Given the description of an element on the screen output the (x, y) to click on. 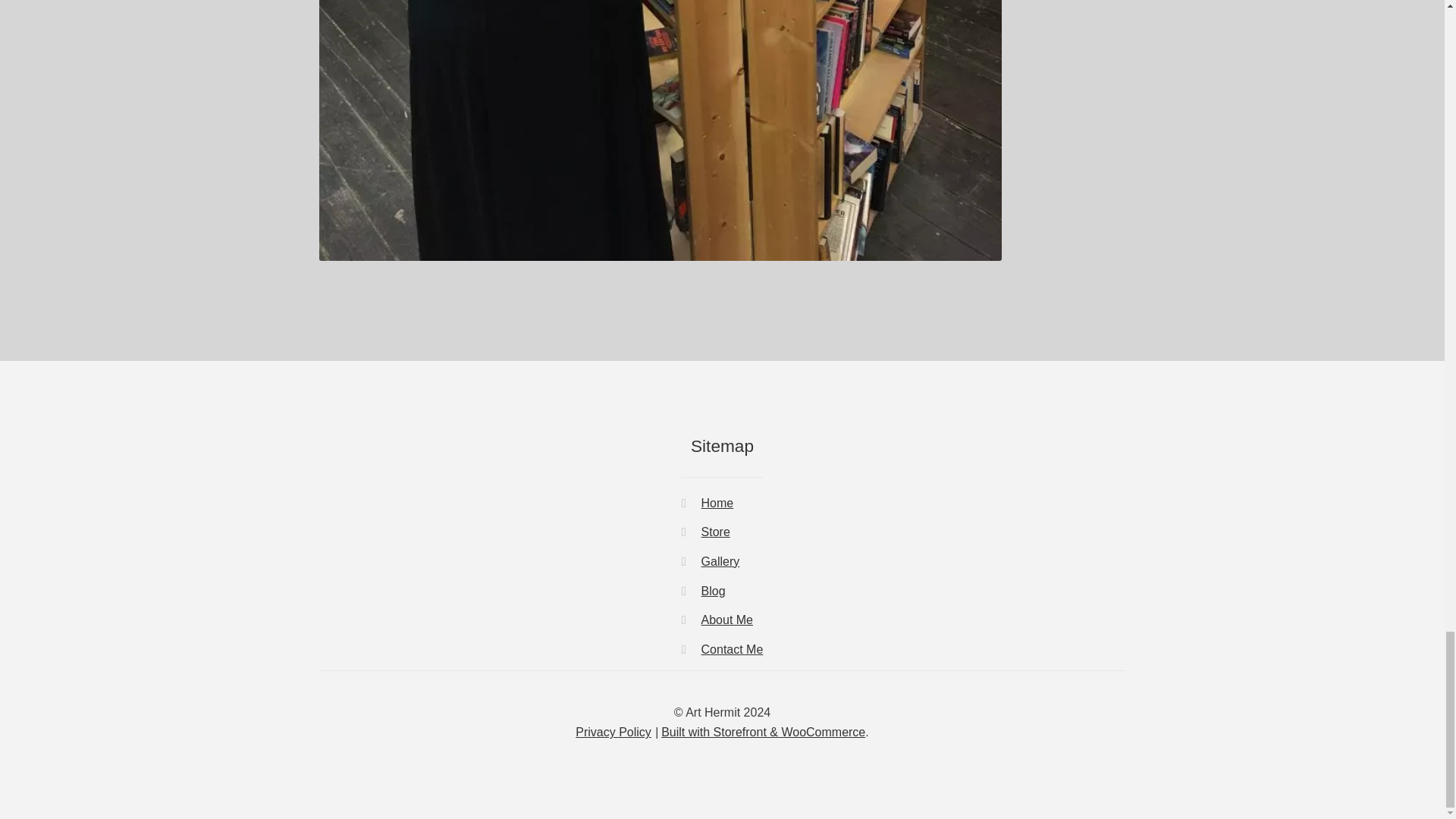
Gallery (720, 561)
WooCommerce - The Best eCommerce Platform for WordPress (762, 731)
Home (717, 502)
Blog (713, 590)
Store (715, 531)
About Me (726, 619)
